Given the description of an element on the screen output the (x, y) to click on. 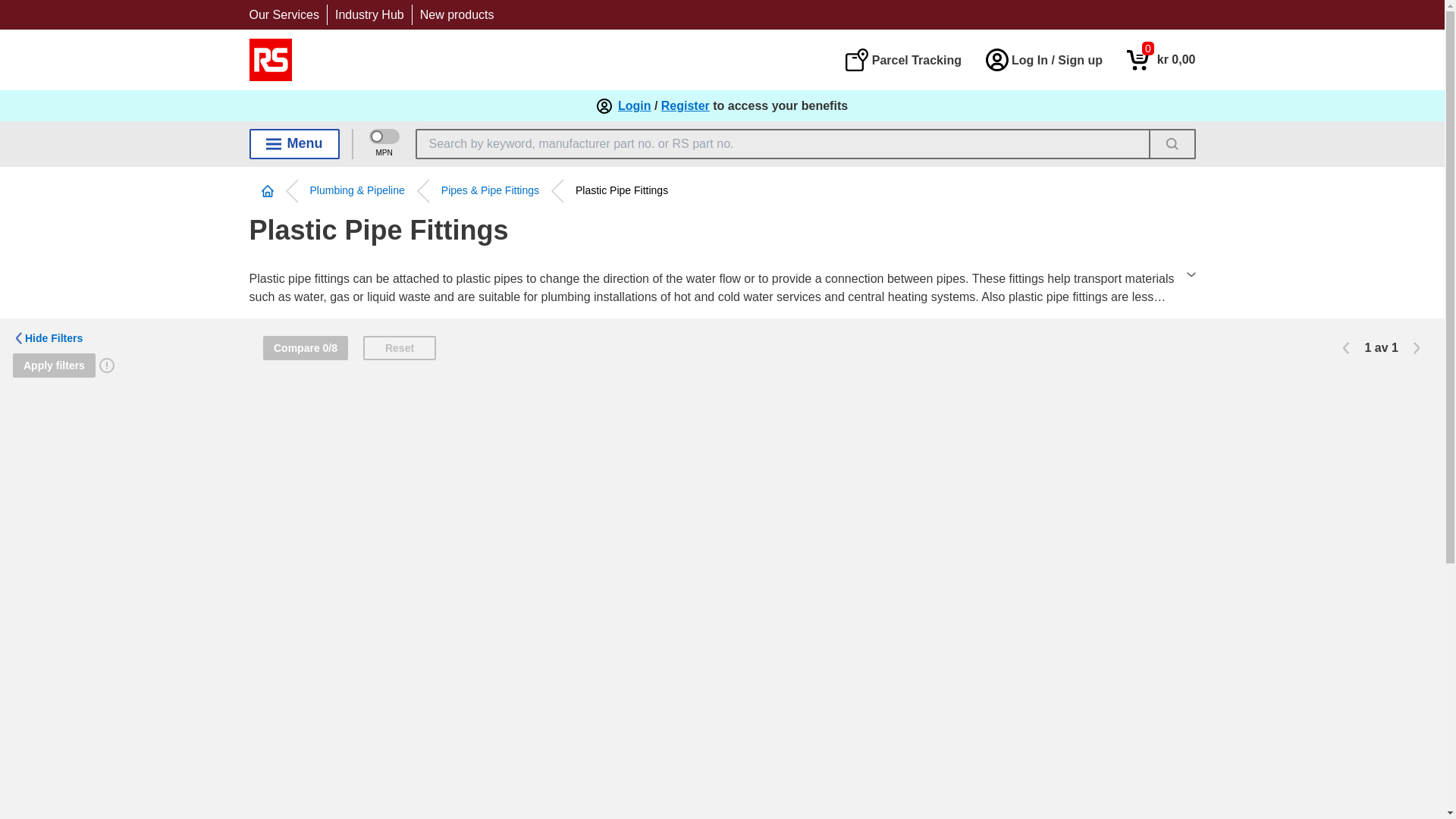
Register (685, 105)
Login (633, 105)
New products (1160, 59)
Industry Hub (457, 14)
Our Services (369, 14)
Parcel Tracking (283, 14)
0 (902, 59)
Menu (1160, 59)
